Given the description of an element on the screen output the (x, y) to click on. 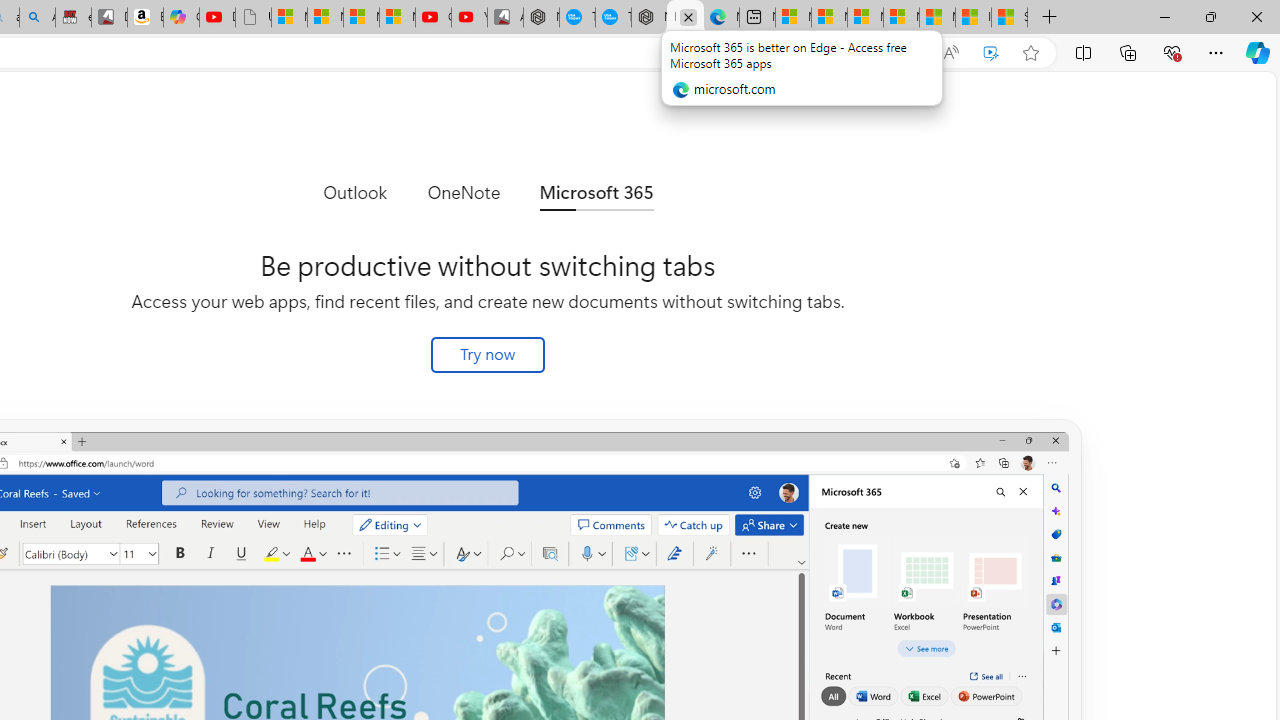
Close tab (688, 16)
New tab (756, 17)
Untitled (253, 17)
Read aloud this page (Ctrl+Shift+U) (950, 53)
Nordace - Nordace has arrived Hong Kong (649, 17)
YouTube Kids - An App Created for Kids to Explore Content (469, 17)
Close (1256, 16)
Minimize (1164, 16)
The most popular Google 'how to' searches (613, 17)
All Cubot phones (505, 17)
Nordace - My Account (541, 17)
Add this page to favorites (Ctrl+D) (1030, 53)
Gloom - YouTube (433, 17)
Copilot (180, 17)
